Given the description of an element on the screen output the (x, y) to click on. 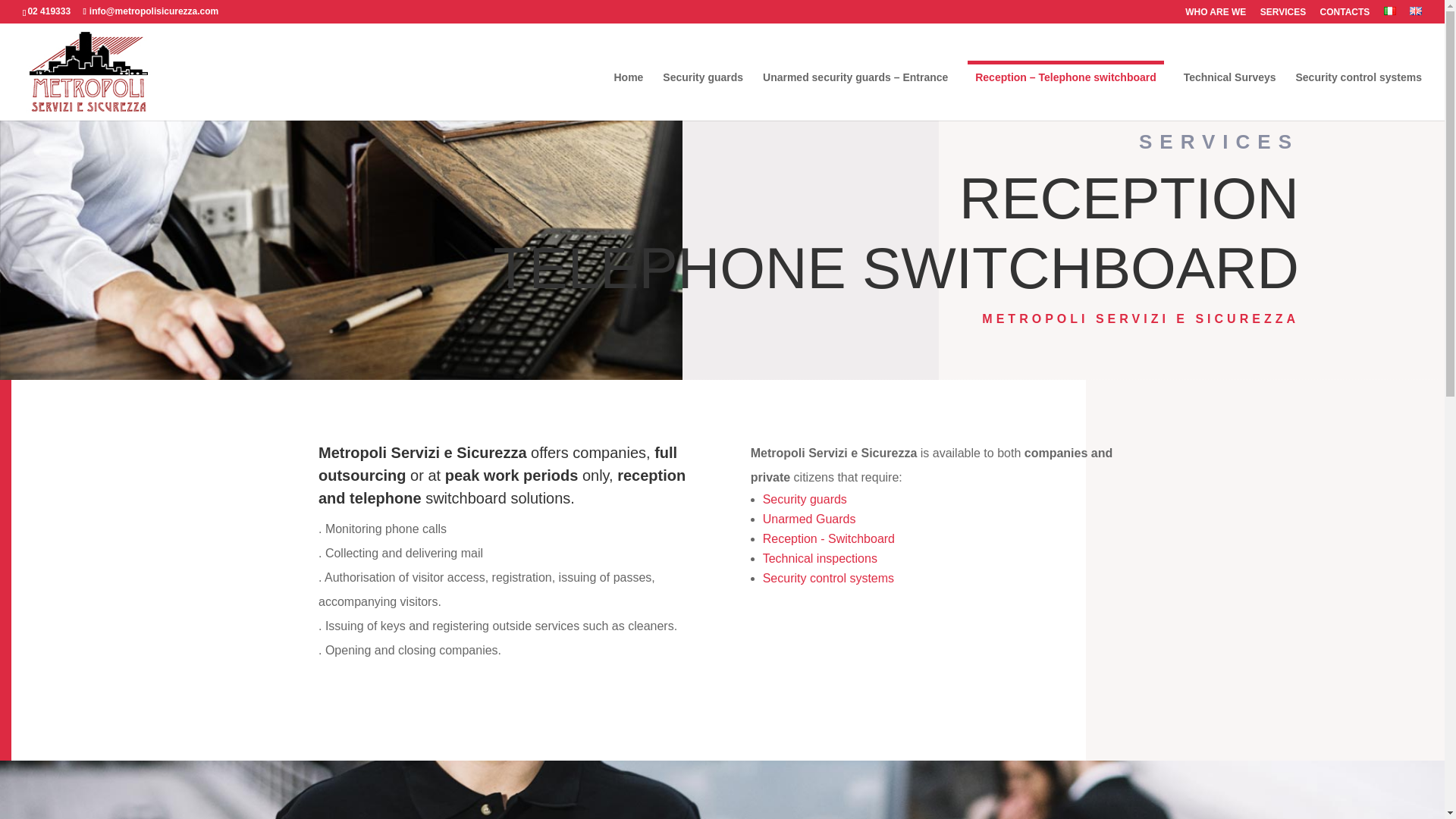
SERVICES (1283, 15)
Reception - Switchboard (828, 538)
CONTACTS (1345, 15)
Security guards (702, 96)
Technical Surveys (1229, 96)
02 419333 (48, 10)
WHO ARE WE (1215, 15)
Security control systems (1358, 96)
Security guards (804, 499)
Unarmed Guards (809, 518)
